Given the description of an element on the screen output the (x, y) to click on. 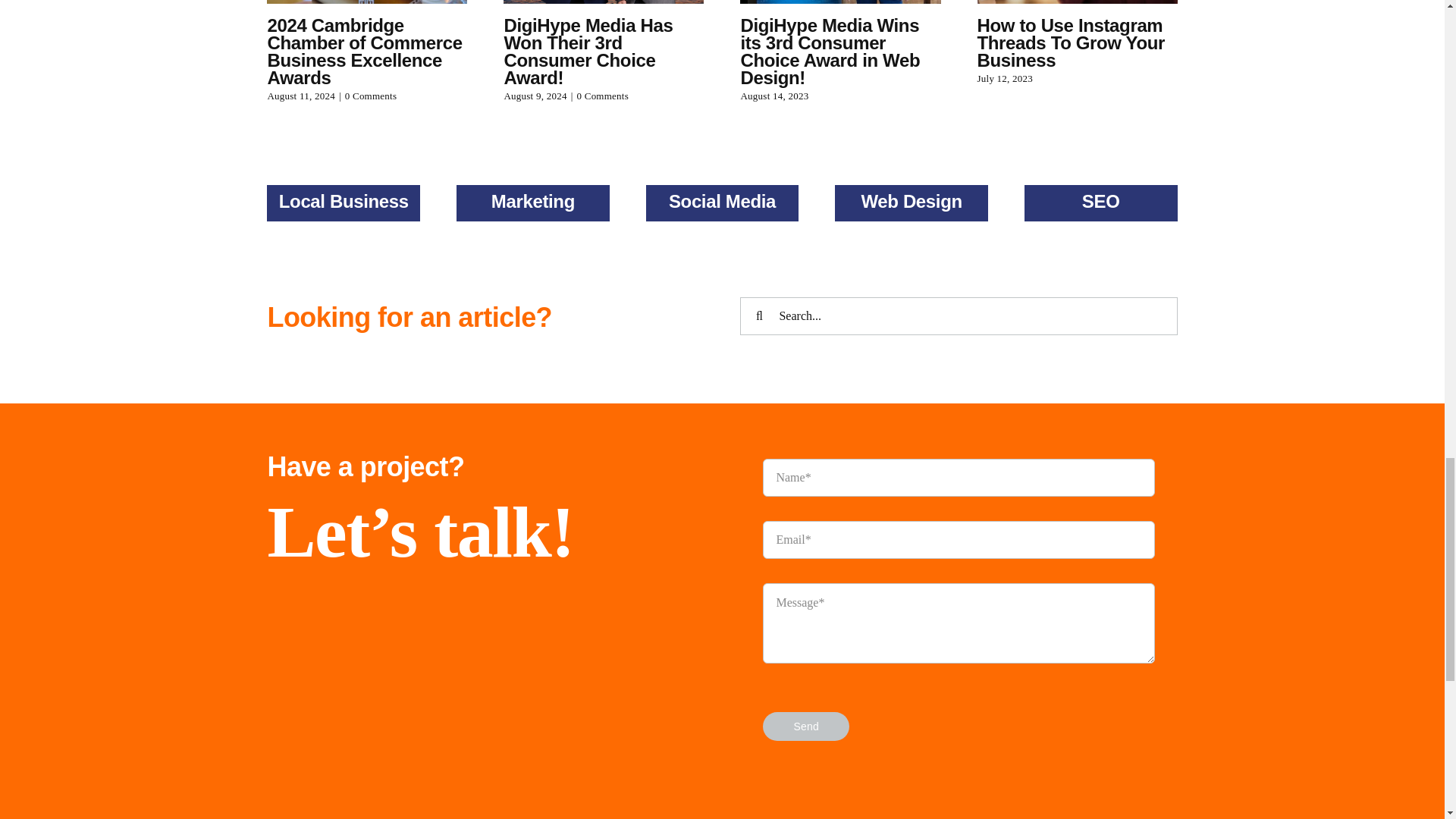
How to Use Instagram Threads To Grow Your Business (1070, 42)
DigiHype Media Has Won Their 3rd Consumer Choice Award! (587, 51)
